Given the description of an element on the screen output the (x, y) to click on. 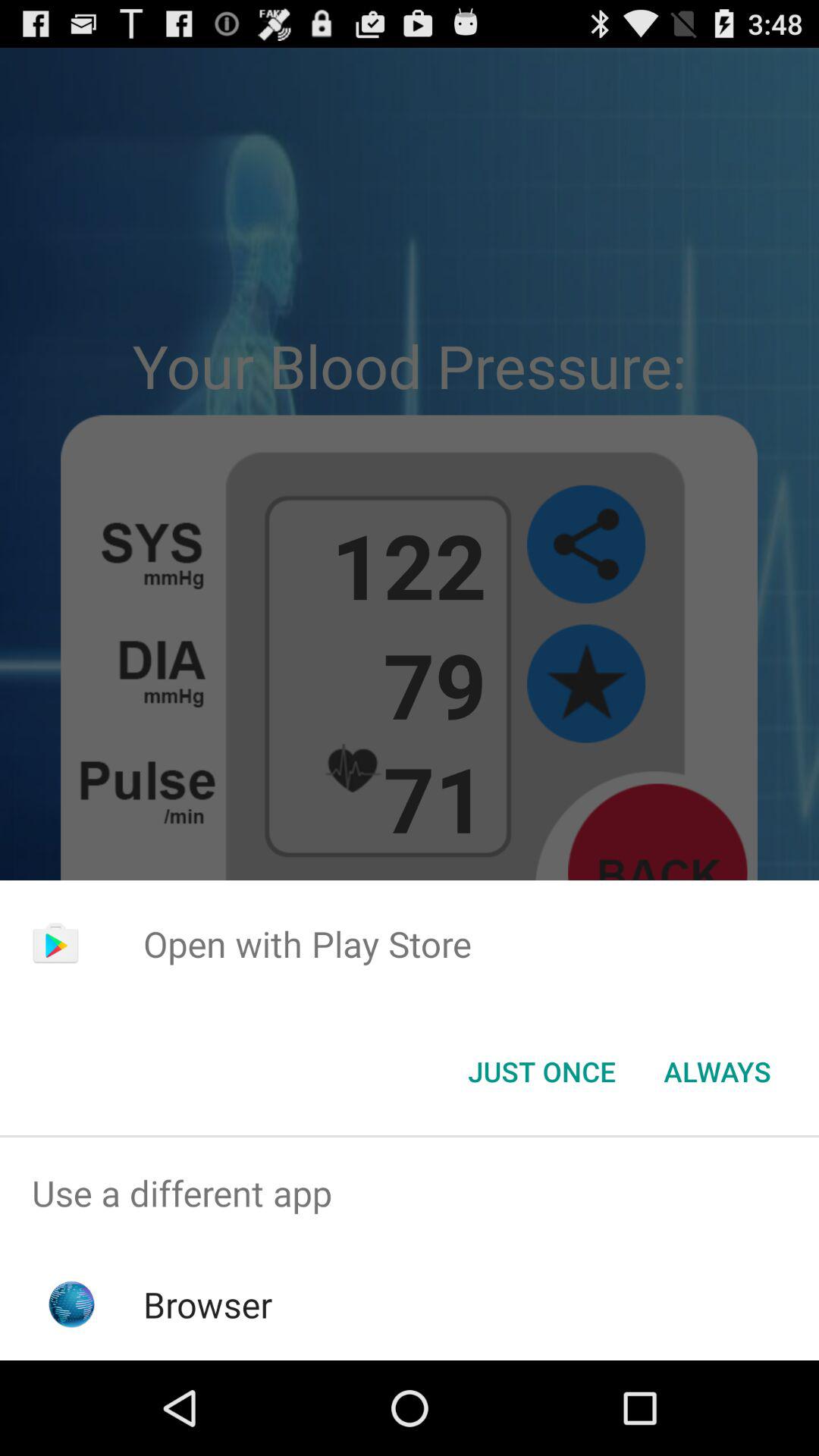
open the use a different (409, 1192)
